Given the description of an element on the screen output the (x, y) to click on. 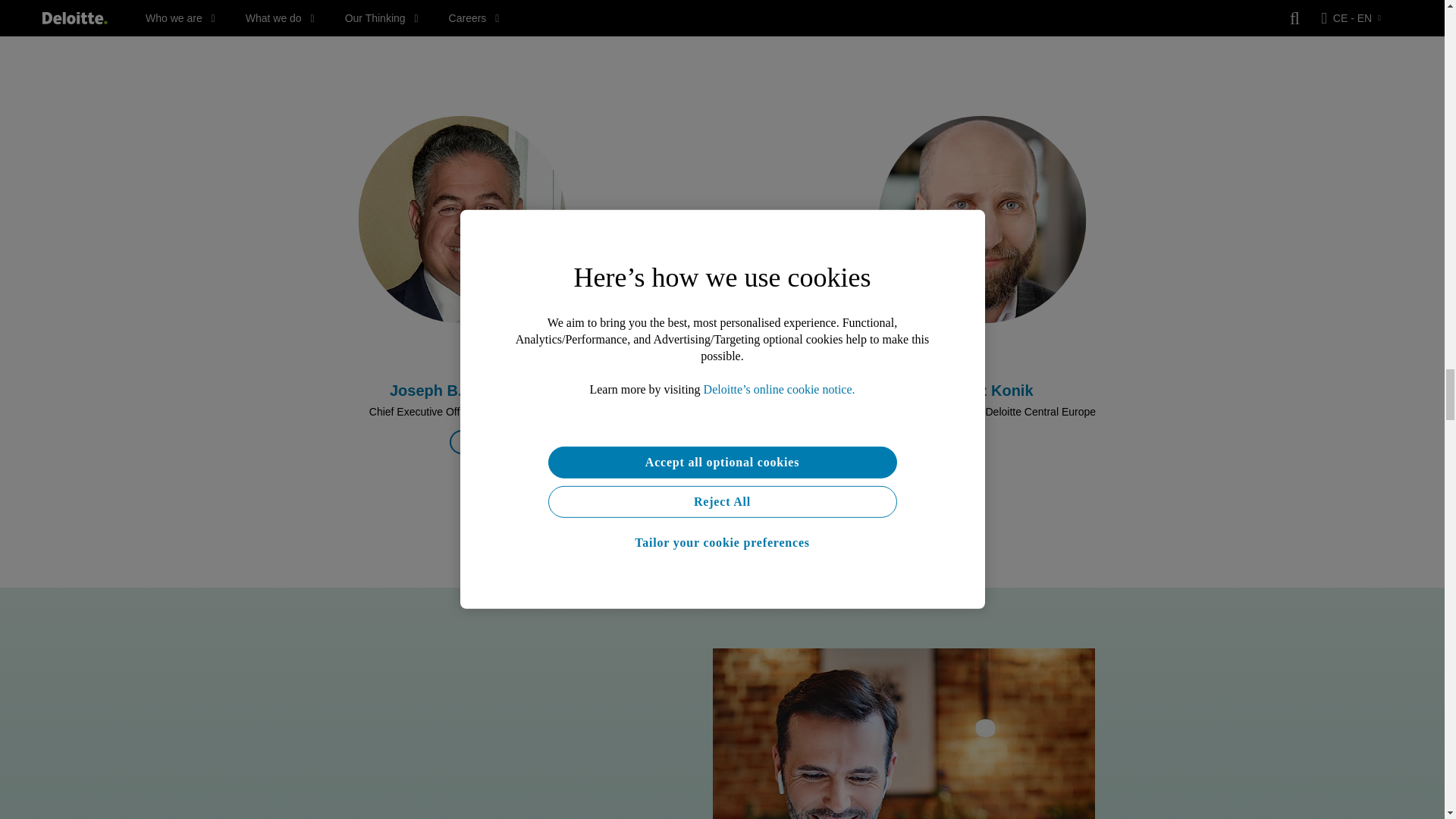
Click here to connect via linkedin (461, 441)
